Given the description of an element on the screen output the (x, y) to click on. 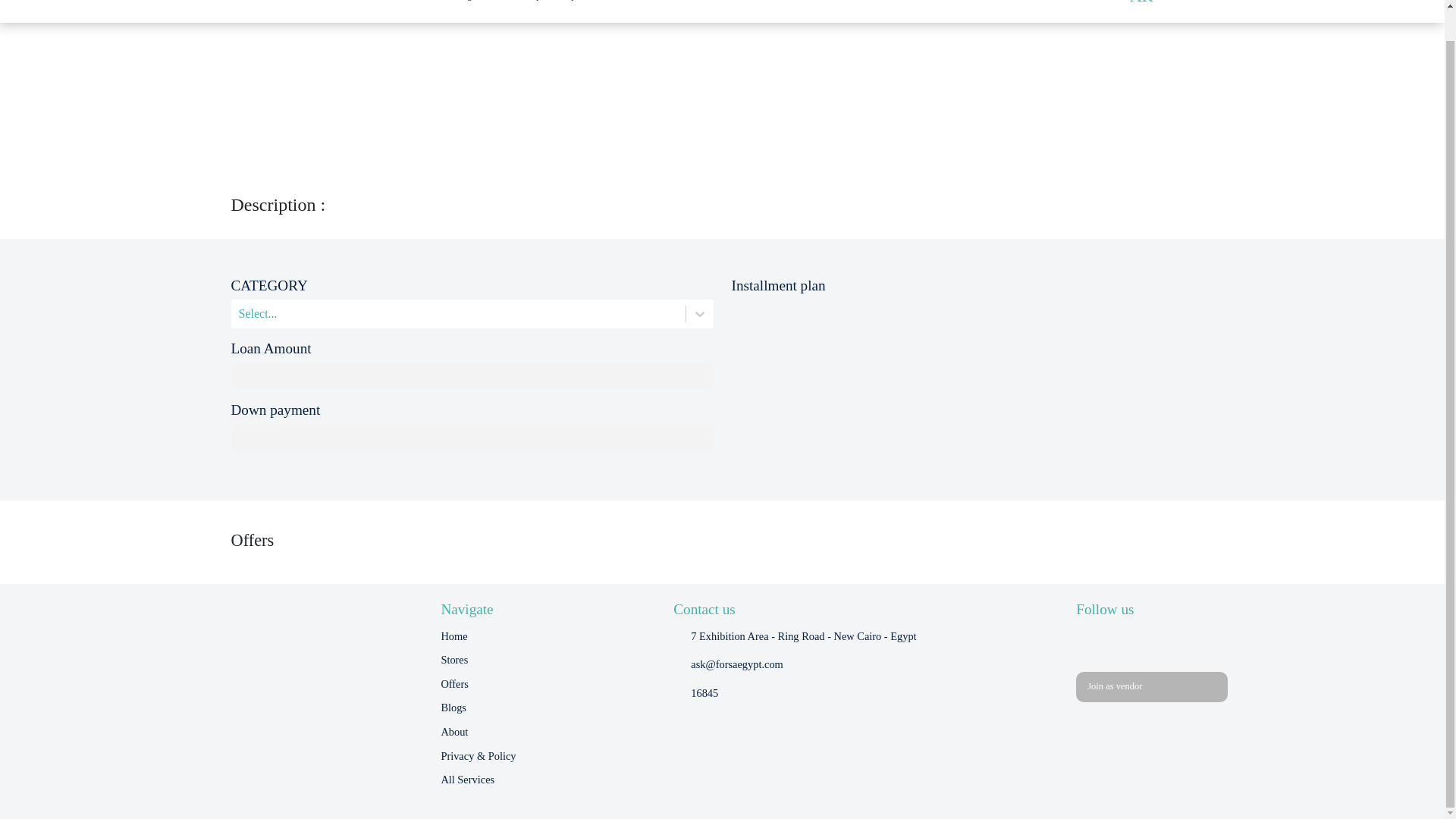
Blogs (453, 708)
Join as vendor (1151, 686)
Stores (454, 660)
Offers (454, 684)
All Services (468, 780)
AR (1141, 4)
Home (454, 636)
Join as vendor (1151, 685)
